Given the description of an element on the screen output the (x, y) to click on. 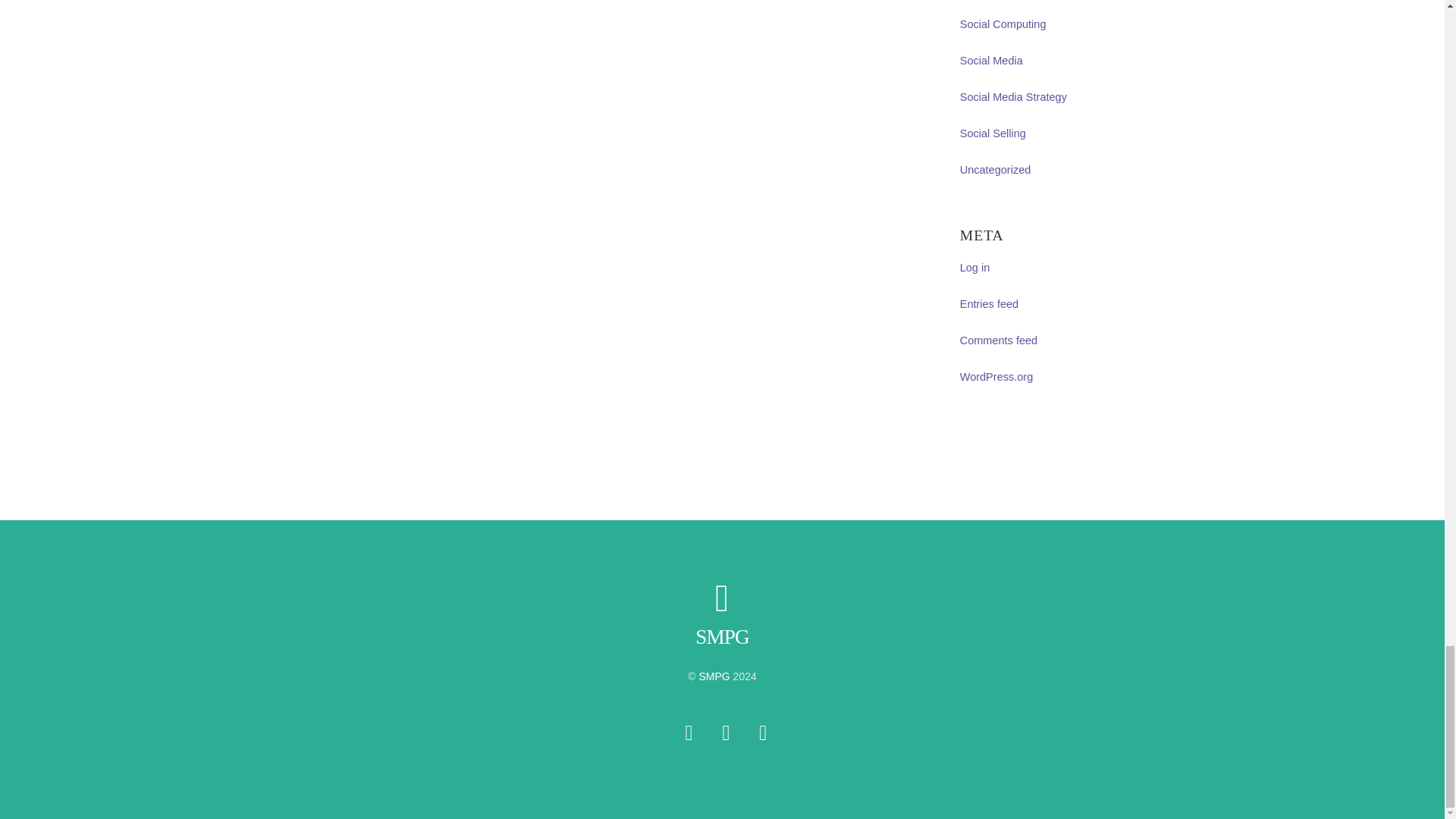
Facebook (726, 732)
SMPG (721, 636)
Twitter (689, 732)
